Given the description of an element on the screen output the (x, y) to click on. 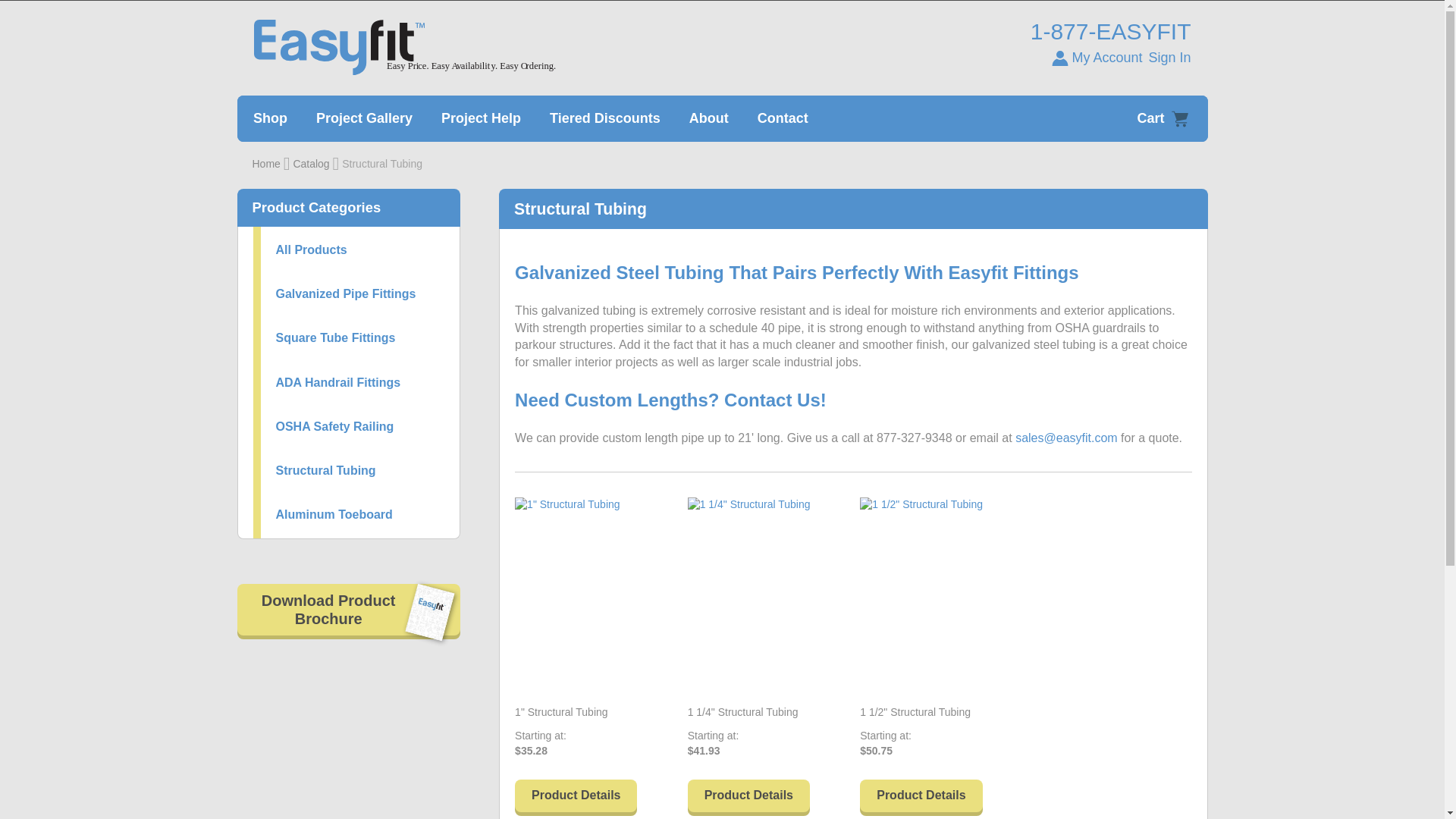
ADA Handrail Fittings (338, 382)
Contact (782, 118)
Download Product Brochure (347, 611)
Product Details (920, 797)
1-877-EASYFIT (1110, 31)
Shop (270, 118)
Aluminum Toeboard (334, 513)
Product Details (576, 797)
Galvanized Pipe Fittings (346, 293)
Sign In (1169, 57)
